Given the description of an element on the screen output the (x, y) to click on. 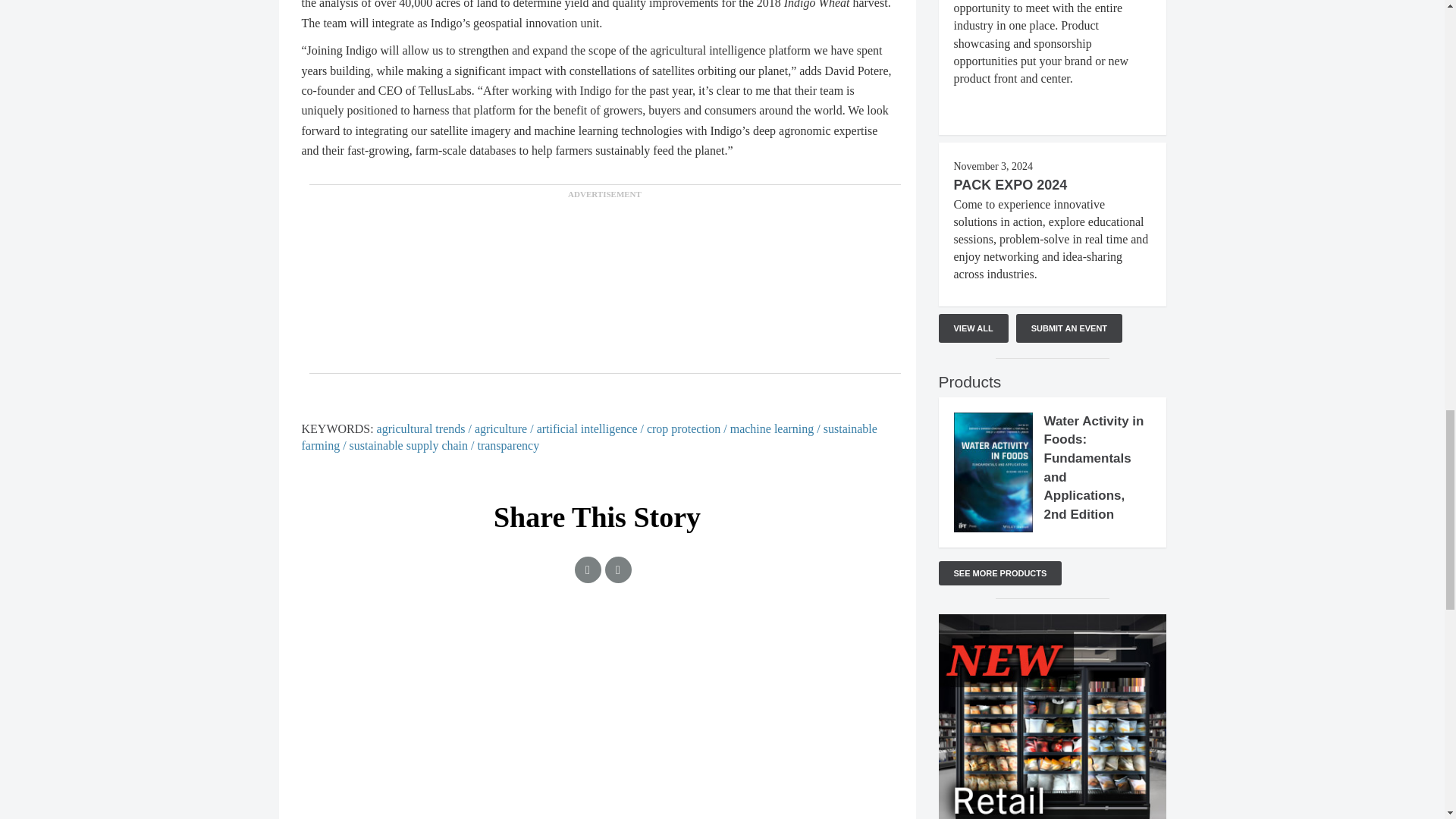
PACK EXPO 2024 (1010, 184)
Interaction questions (597, 688)
